Given the description of an element on the screen output the (x, y) to click on. 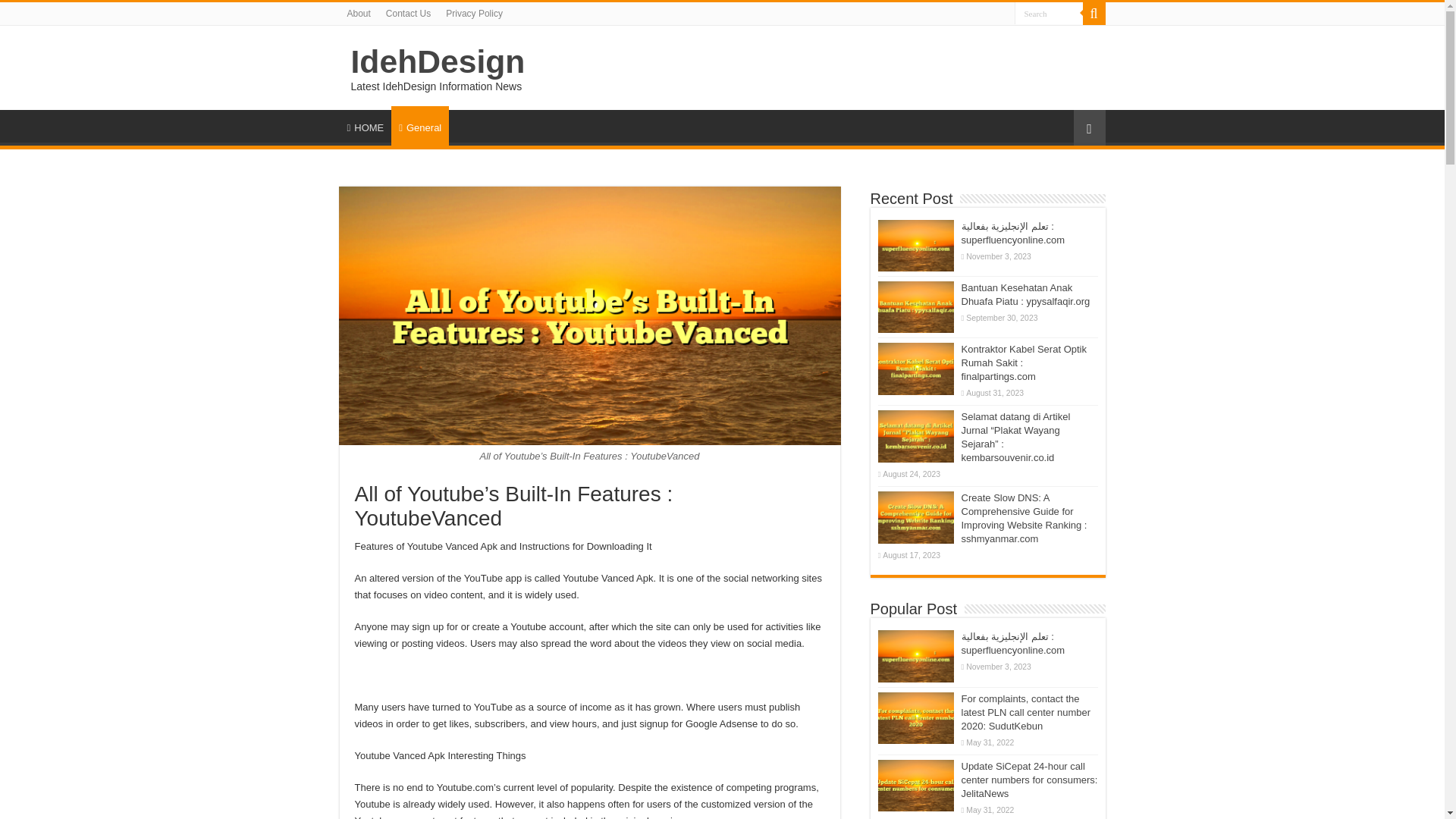
IdehDesign (437, 61)
Kontraktor Kabel Serat Optik Rumah Sakit : finalpartings.com (1023, 362)
Contact Us (408, 13)
About (358, 13)
General (419, 125)
Search (1048, 13)
Bantuan Kesehatan Anak Dhuafa Piatu : ypysalfaqir.org (1025, 294)
Search (1048, 13)
HOME (365, 125)
